Given the description of an element on the screen output the (x, y) to click on. 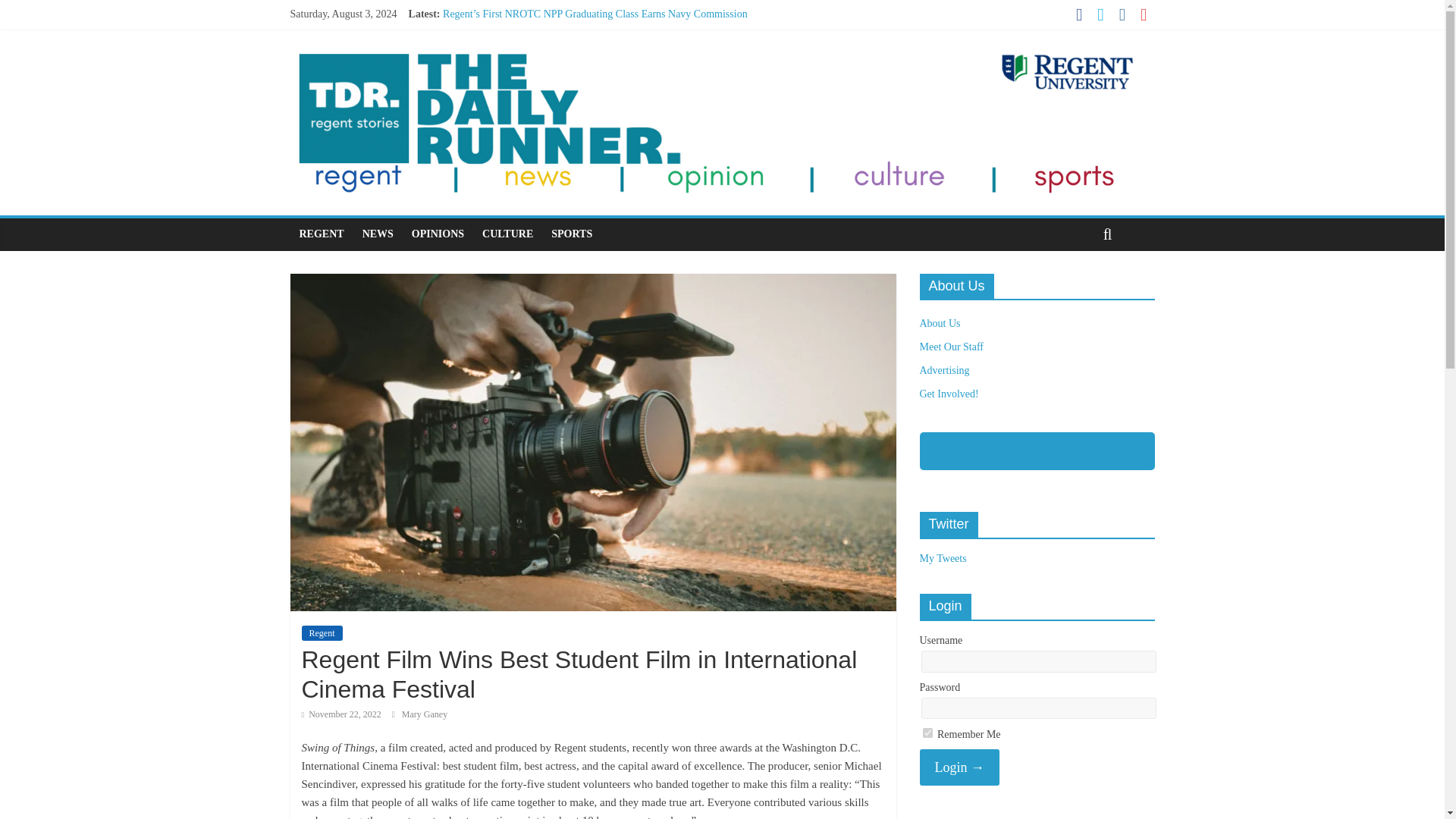
Understanding Antisemitism: Interview with Brendan Murphy (574, 64)
CULTURE (507, 234)
Regent (321, 632)
Advertising (943, 369)
Mary Ganey (423, 714)
OPINIONS (438, 234)
Understanding Antisemitism: Interview with Brendan Murphy (574, 64)
Meet Our Staff (951, 346)
SPORTS (571, 234)
